Given the description of an element on the screen output the (x, y) to click on. 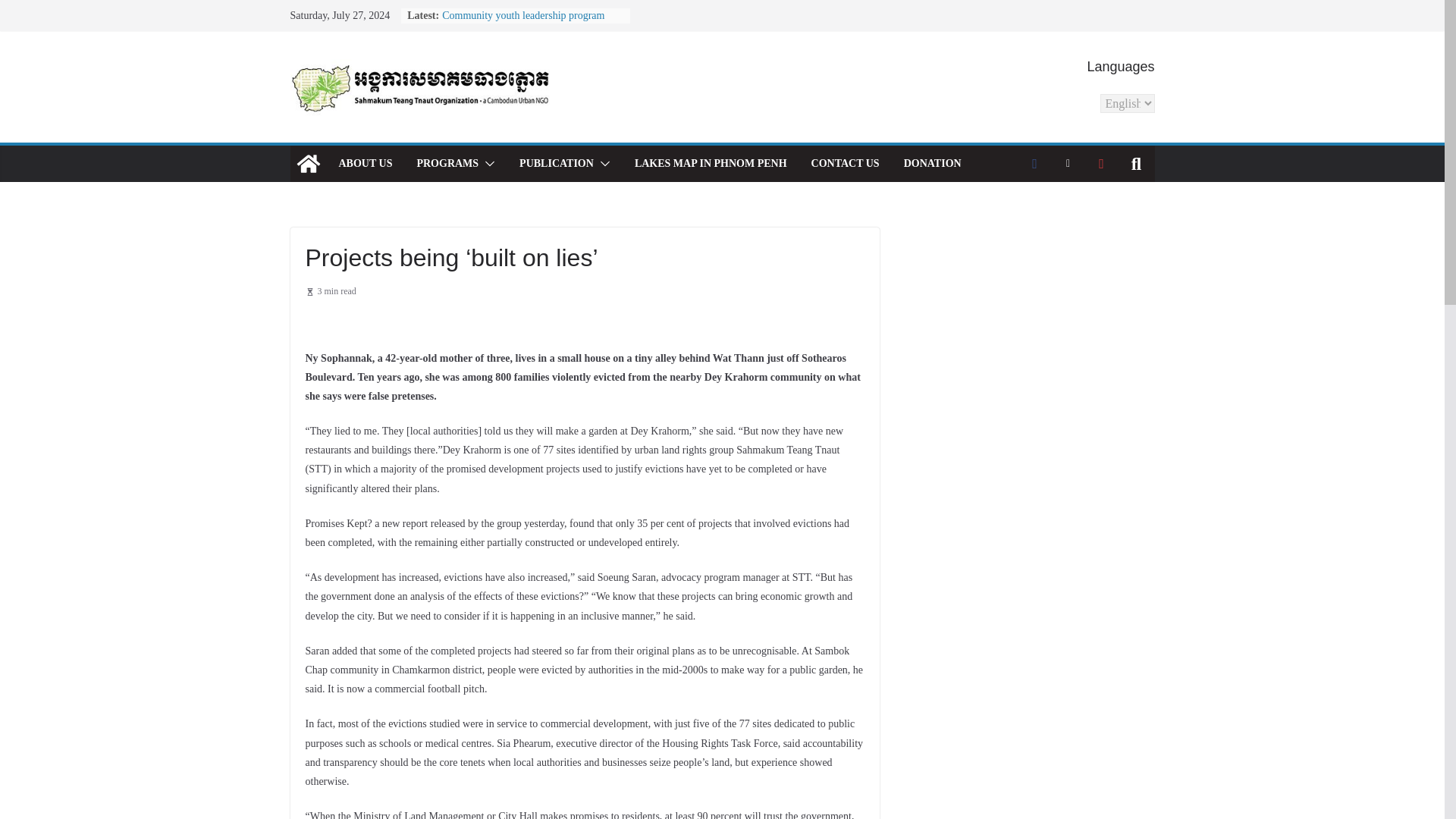
CONTACT US (844, 163)
Language Switcher (1126, 103)
DONATION (932, 163)
PROGRAMS (447, 163)
ABOUT US (364, 163)
LAKES MAP IN PHNOM PENH (710, 163)
PUBLICATION (556, 163)
